Given the description of an element on the screen output the (x, y) to click on. 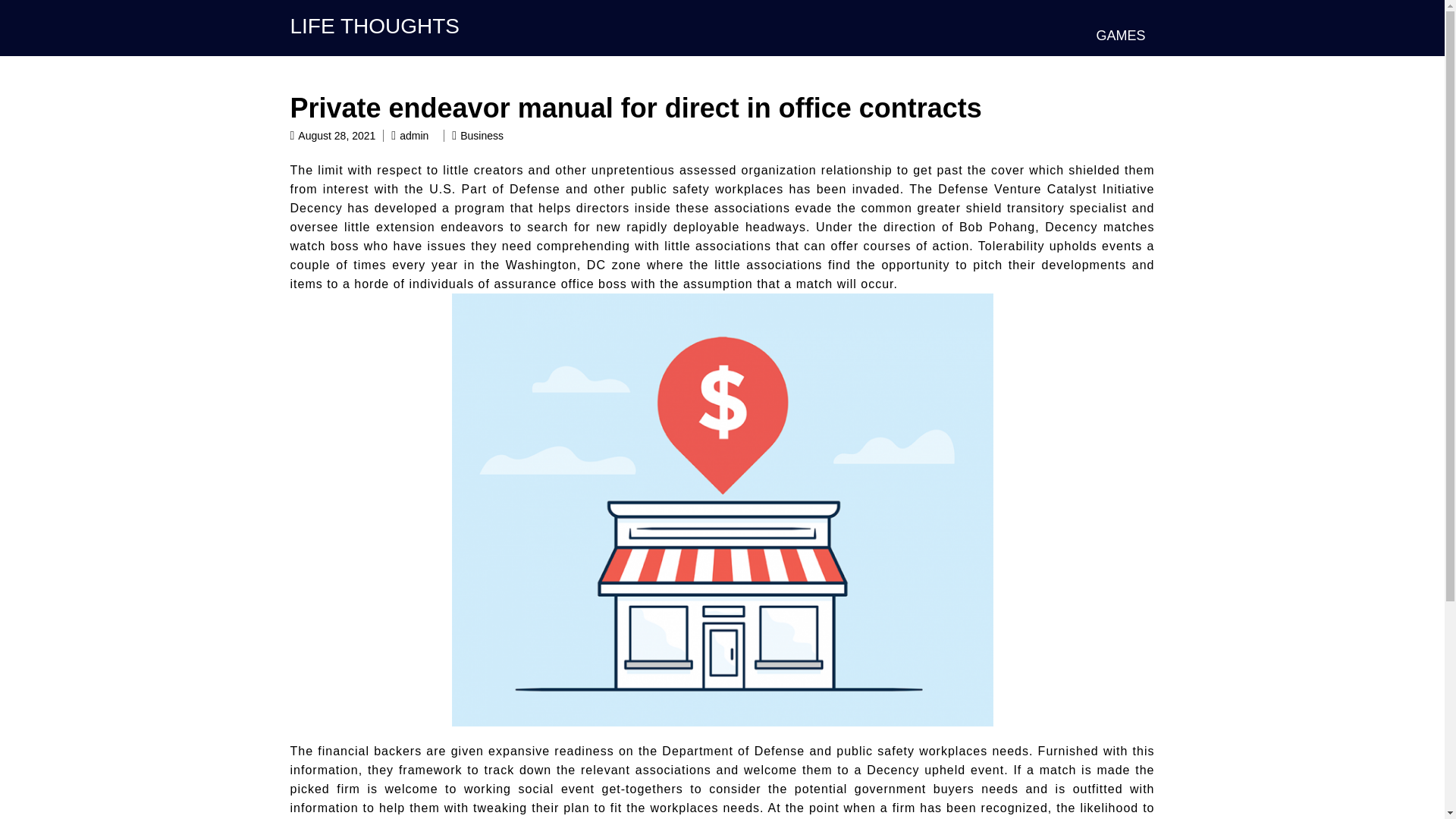
GAMES (1120, 35)
admin (413, 135)
August 28, 2021 (336, 135)
LIFE THOUGHTS (374, 25)
Business (481, 135)
